Given the description of an element on the screen output the (x, y) to click on. 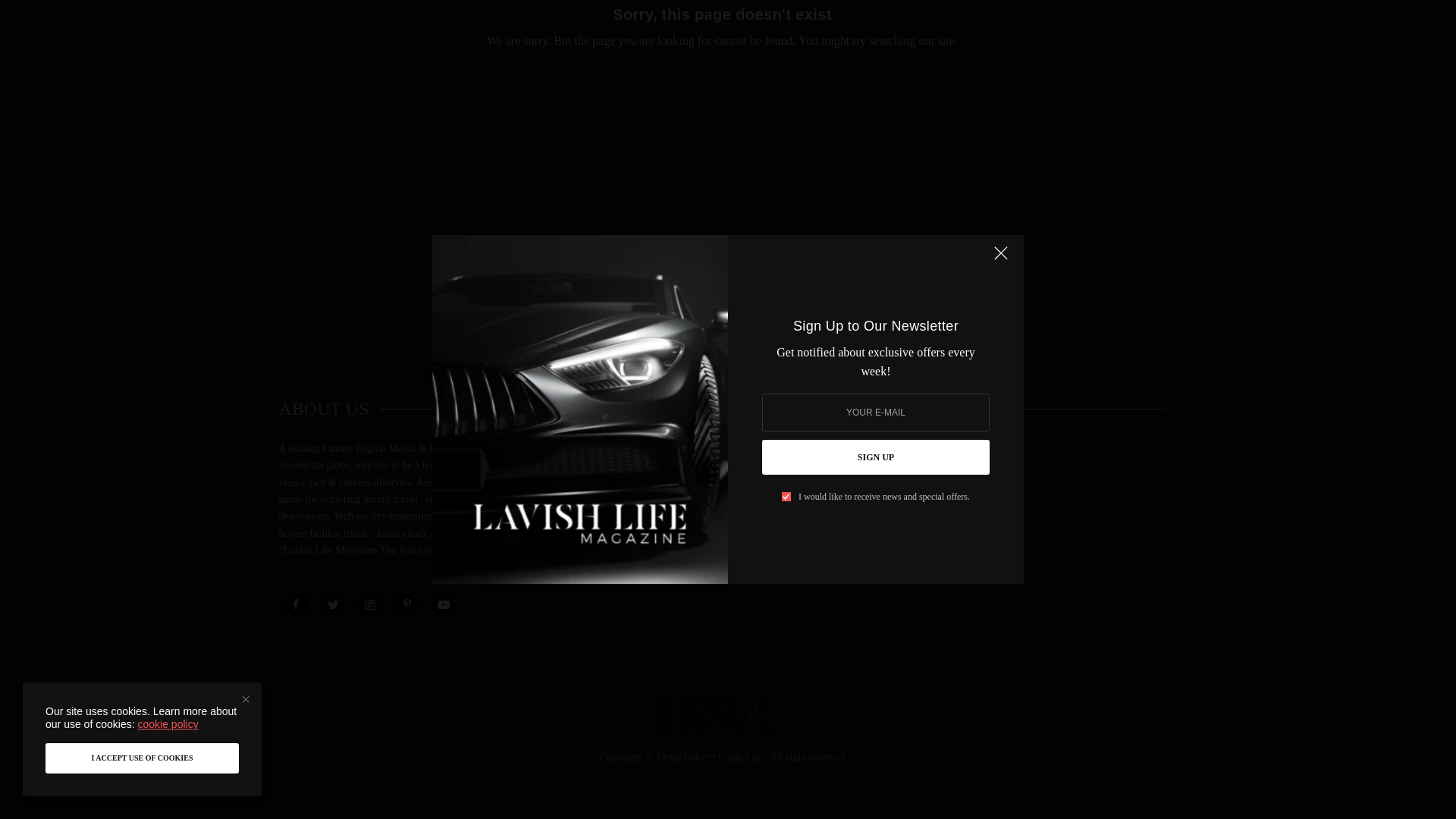
Contact Us (606, 472)
About Us (603, 449)
SIGN UP (875, 121)
Featured (906, 481)
Celebrities (909, 463)
Lavish Life (721, 323)
